Given the description of an element on the screen output the (x, y) to click on. 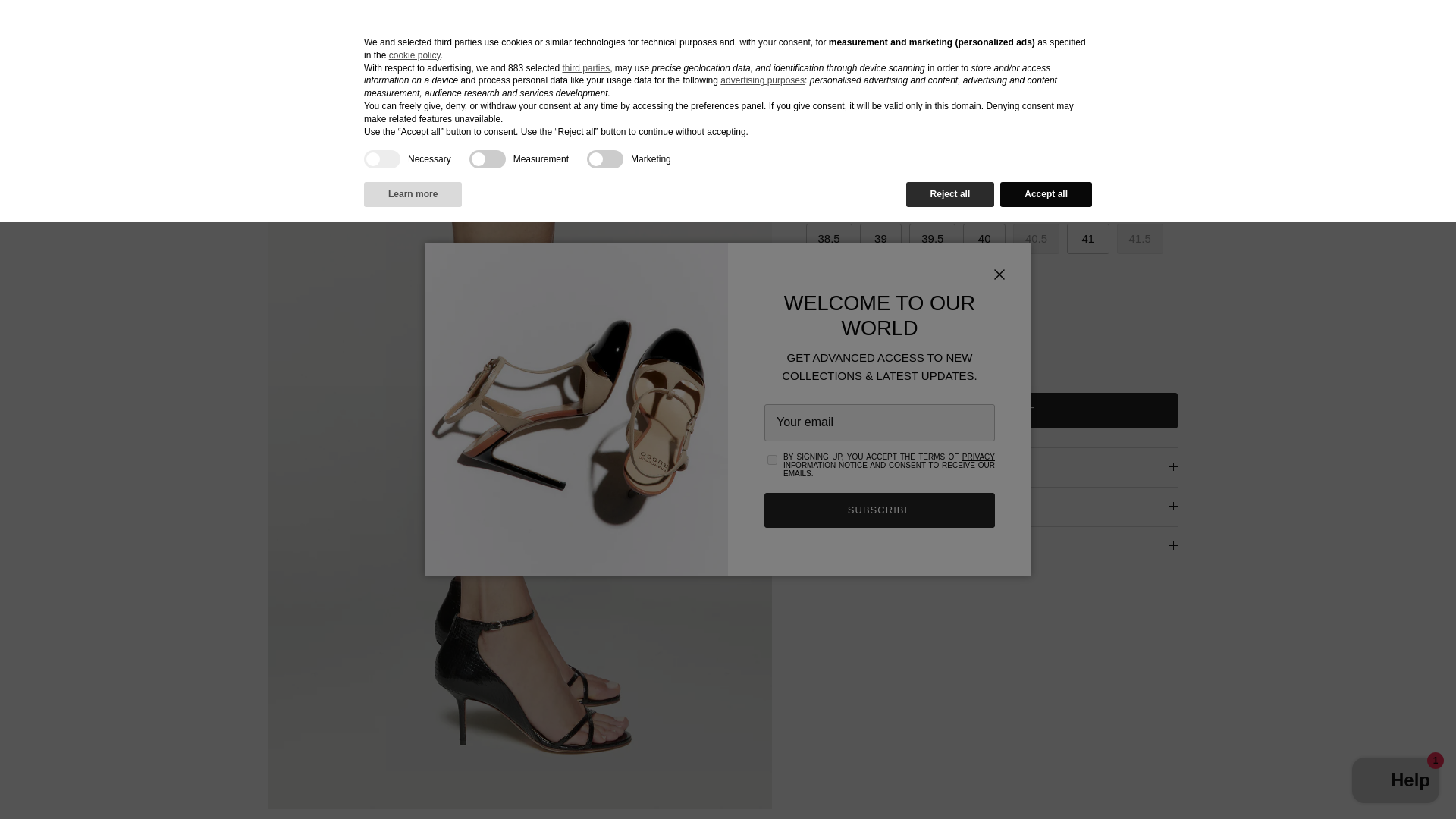
HOME (66, 31)
false (604, 158)
R1S949 (214, 91)
Account (1319, 31)
Sold out (1036, 238)
false (486, 158)
true (382, 158)
Shopify online store chat (1396, 781)
ANTHOLOGY (296, 31)
Yes (772, 460)
Francesco Russo (721, 31)
Home (172, 91)
SALE (204, 31)
Privacy Policy (888, 460)
SHOP (136, 31)
